Given the description of an element on the screen output the (x, y) to click on. 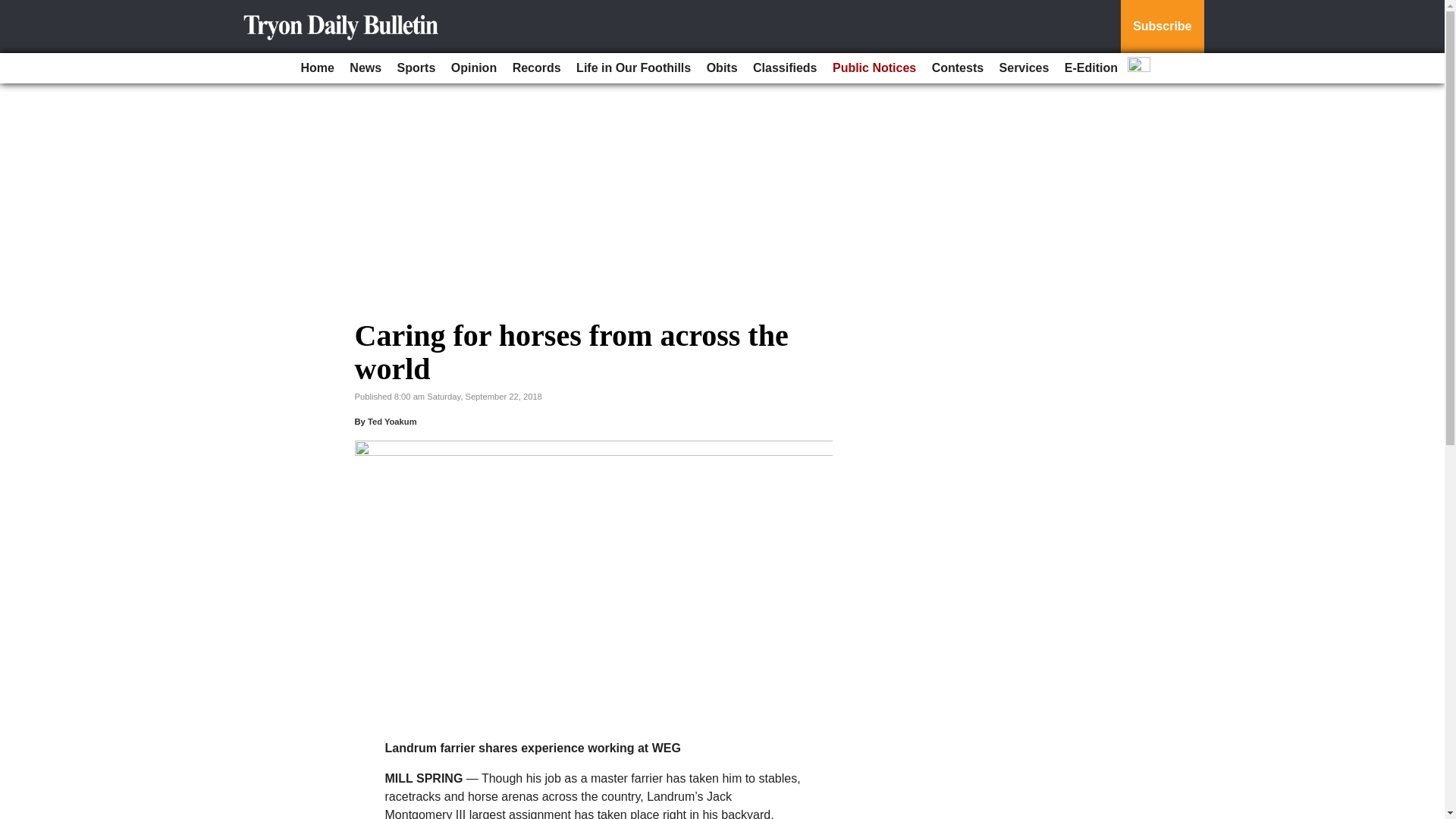
Home (316, 68)
Go (13, 9)
Services (1023, 68)
Public Notices (874, 68)
Sports (416, 68)
Records (536, 68)
Opinion (473, 68)
Life in Our Foothills (633, 68)
E-Edition (1091, 68)
Obits (722, 68)
